Given the description of an element on the screen output the (x, y) to click on. 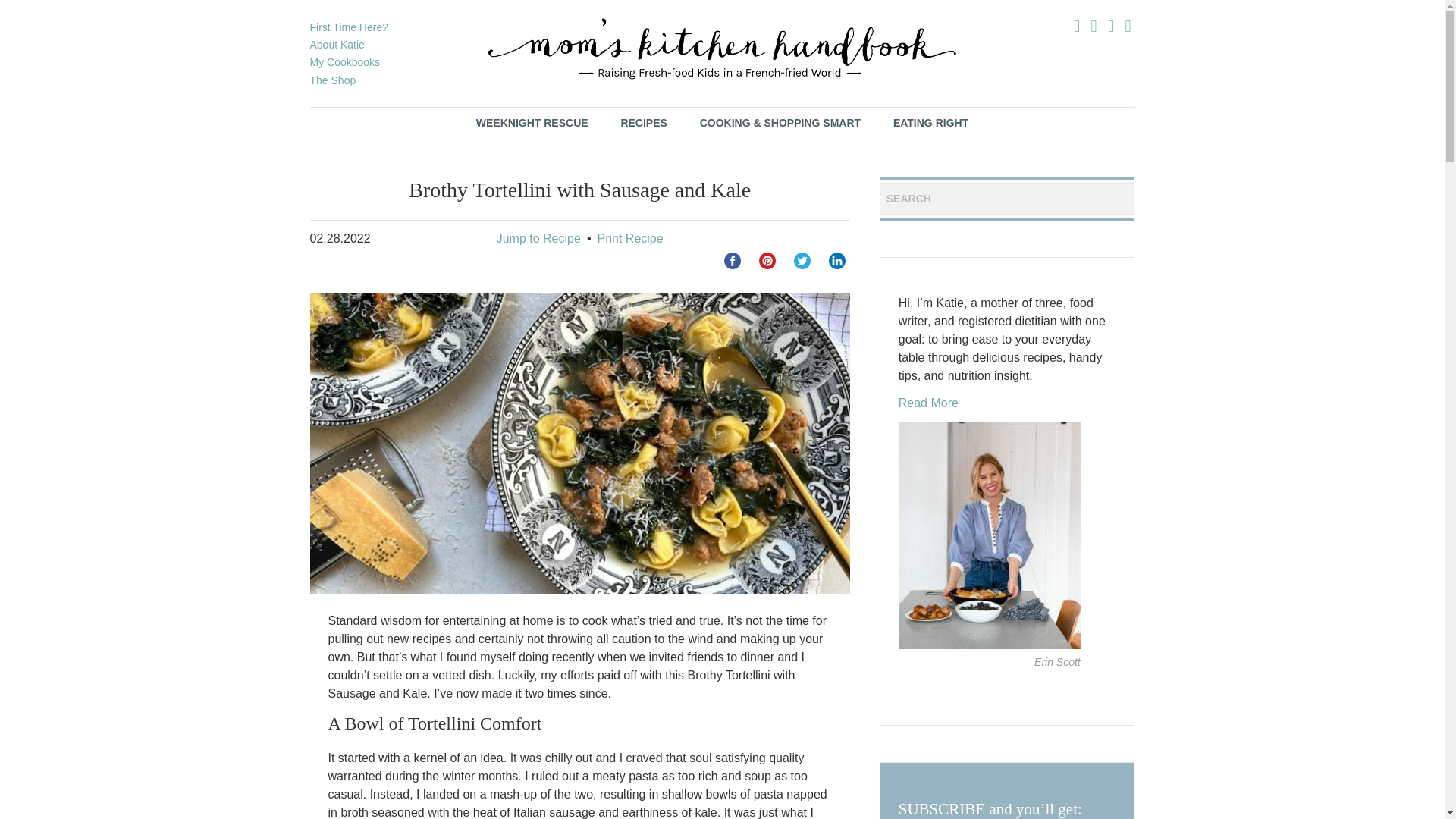
About Katie (336, 44)
RECIPES (643, 123)
Jump to Recipe (538, 237)
Print Recipe (629, 237)
EATING RIGHT (930, 123)
Read More (928, 402)
Raising Fresh-Food Kids in a French-Fried World (721, 48)
The Shop (331, 80)
Search (38, 15)
twitter (802, 260)
First Time Here? (347, 27)
linkedin (837, 260)
Erin Scott (1056, 662)
WEEKNIGHT RESCUE (532, 123)
pinterest (767, 260)
